Given the description of an element on the screen output the (x, y) to click on. 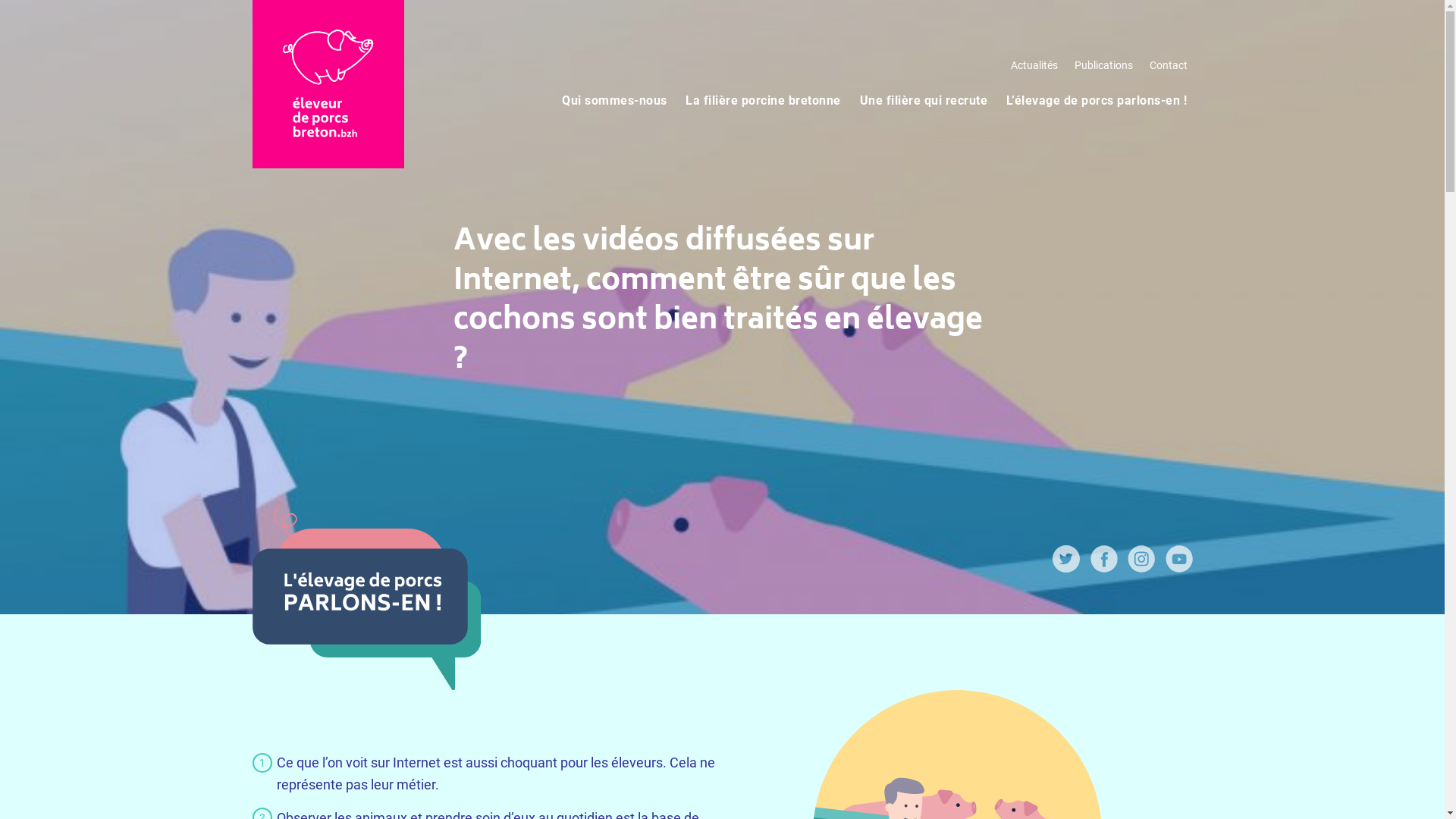
Facebook Element type: text (1103, 567)
Youtube Element type: text (1178, 567)
Qui sommes-nous Element type: text (614, 99)
Contact Element type: text (1168, 64)
Twitter Element type: text (1065, 567)
Instagram Element type: text (1140, 567)
Publications Element type: text (1103, 64)
